Given the description of an element on the screen output the (x, y) to click on. 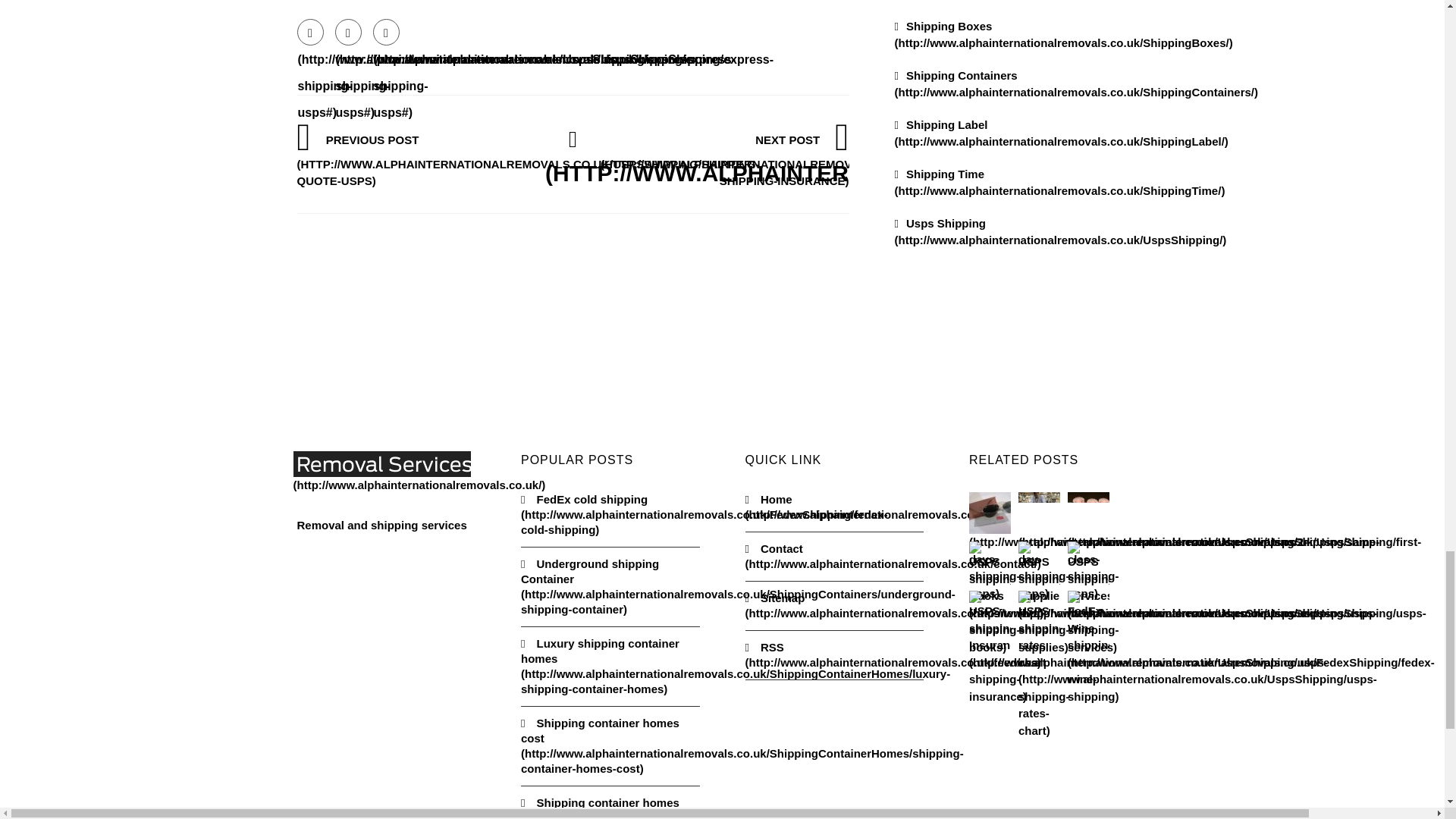
View all posts filed under Shipping Boxes (1064, 34)
NEXT POST (819, 159)
Twitter (347, 31)
Google Plus (385, 31)
Facebook (310, 31)
PREVIOUS POST (528, 159)
View all posts filed under Shipping Containers (1077, 82)
